Given the description of an element on the screen output the (x, y) to click on. 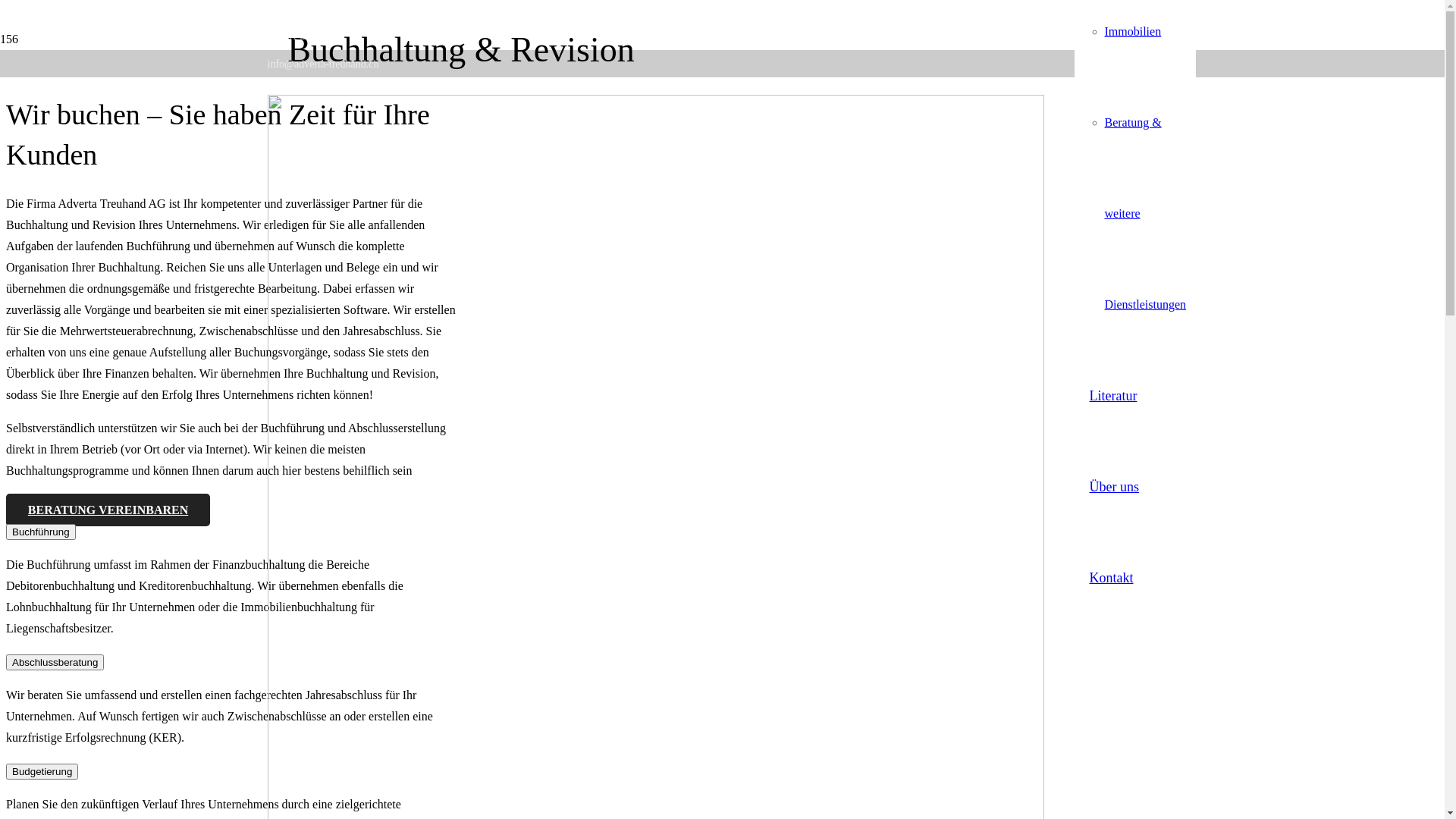
Budgetierung Element type: text (42, 771)
Abschlussberatung Element type: text (54, 662)
Immobilien Element type: text (1132, 31)
Kontakt Element type: text (1110, 577)
BERATUNG VEREINBAREN Element type: text (108, 509)
Literatur Element type: text (1112, 395)
Beratung & weitere Dienstleistungen Element type: text (1145, 213)
